Given the description of an element on the screen output the (x, y) to click on. 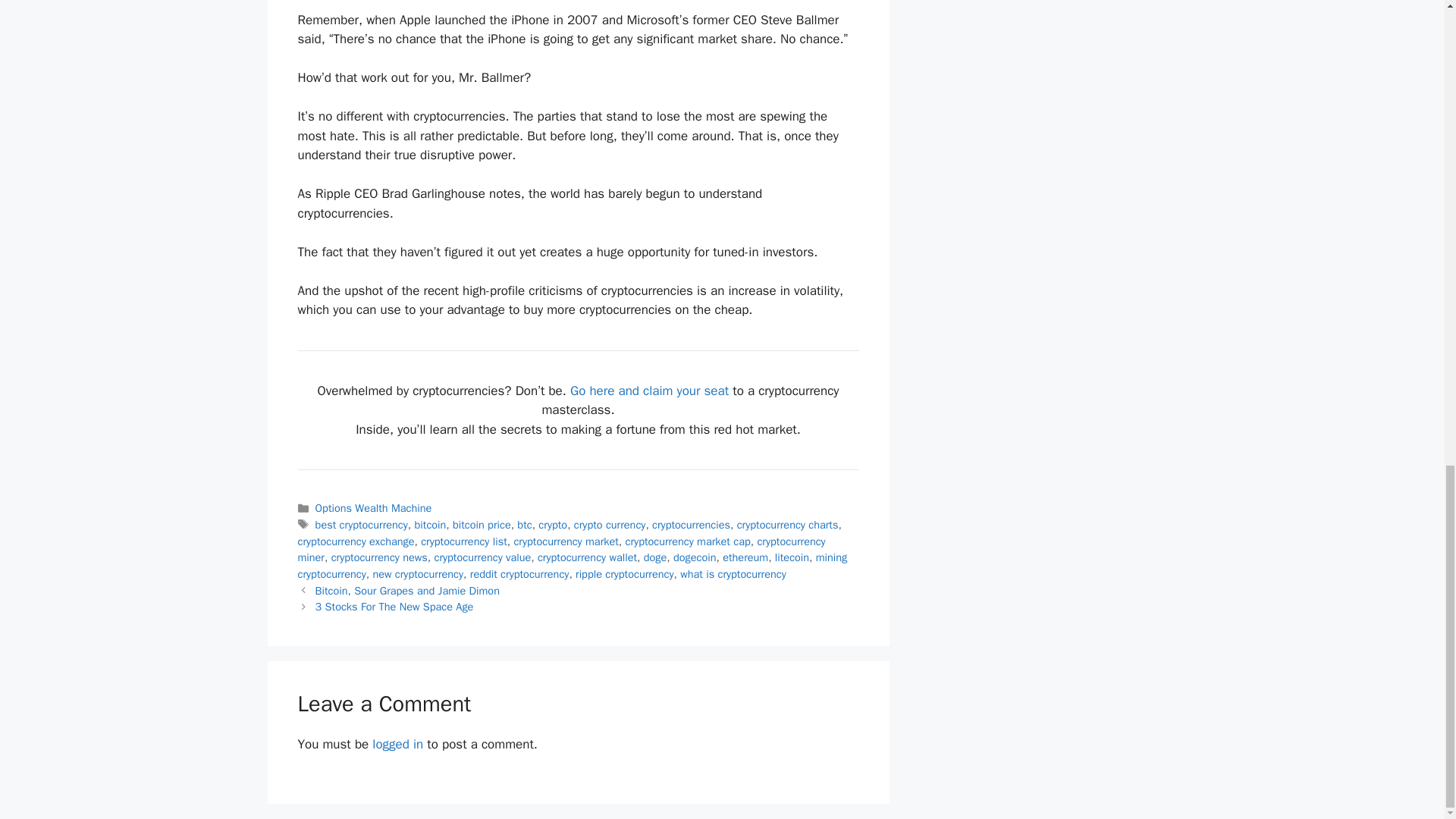
dogecoin (694, 557)
cryptocurrency news (379, 557)
what is cryptocurrency (732, 573)
bitcoin (430, 524)
crypto (552, 524)
cryptocurrency wallet (587, 557)
cryptocurrency exchange (355, 540)
cryptocurrency miner (561, 549)
Options Wealth Machine (373, 508)
bitcoin price (481, 524)
cryptocurrency market cap (688, 540)
ripple cryptocurrency (623, 573)
cryptocurrency list (463, 540)
litecoin (791, 557)
new cryptocurrency (417, 573)
